Given the description of an element on the screen output the (x, y) to click on. 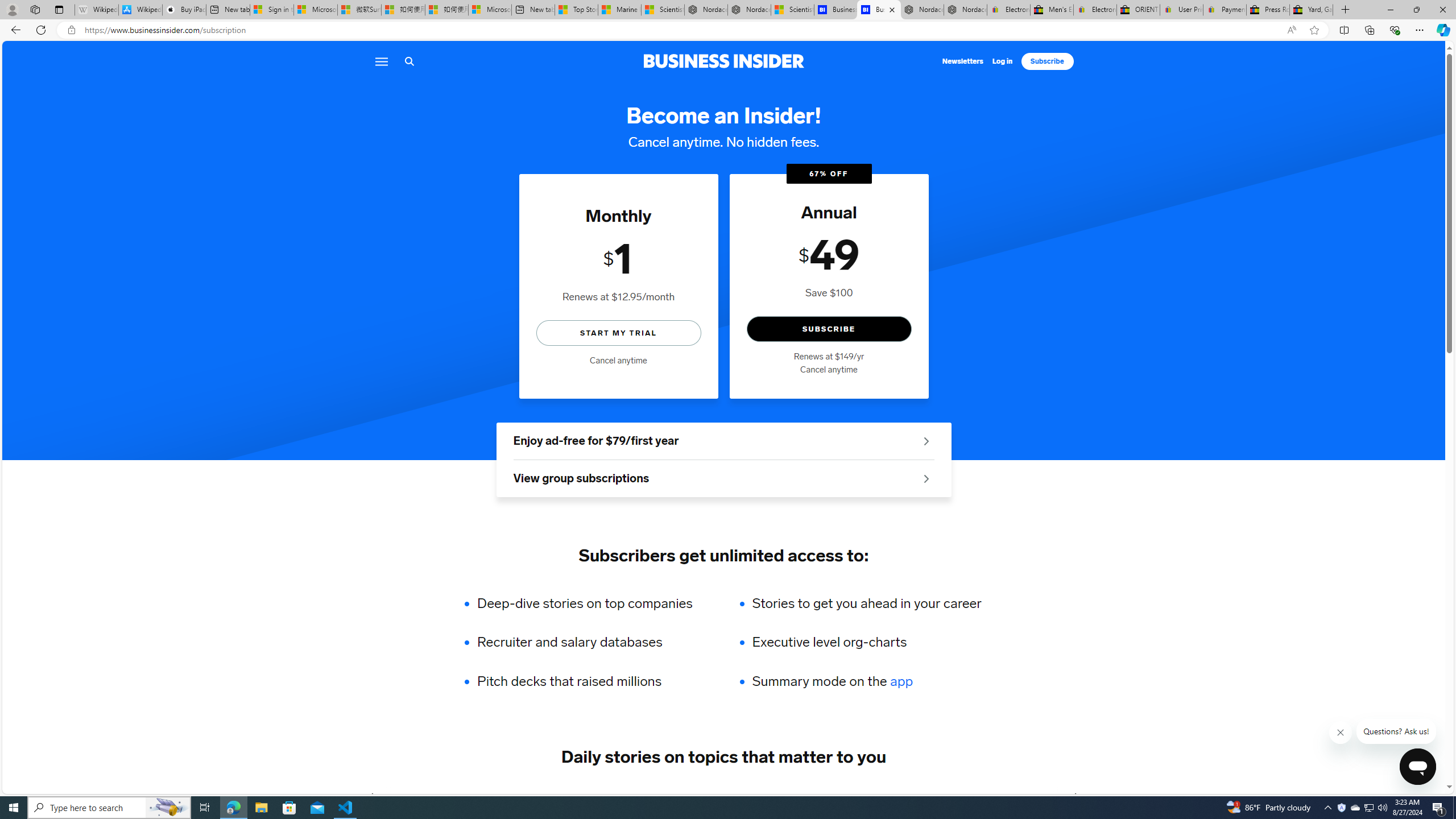
Business Insider logo (723, 60)
TECH (402, 796)
STRATEGY (1012, 796)
MEDIA (1075, 796)
RETAIL (544, 796)
ADVERTISING (471, 796)
